Given the description of an element on the screen output the (x, y) to click on. 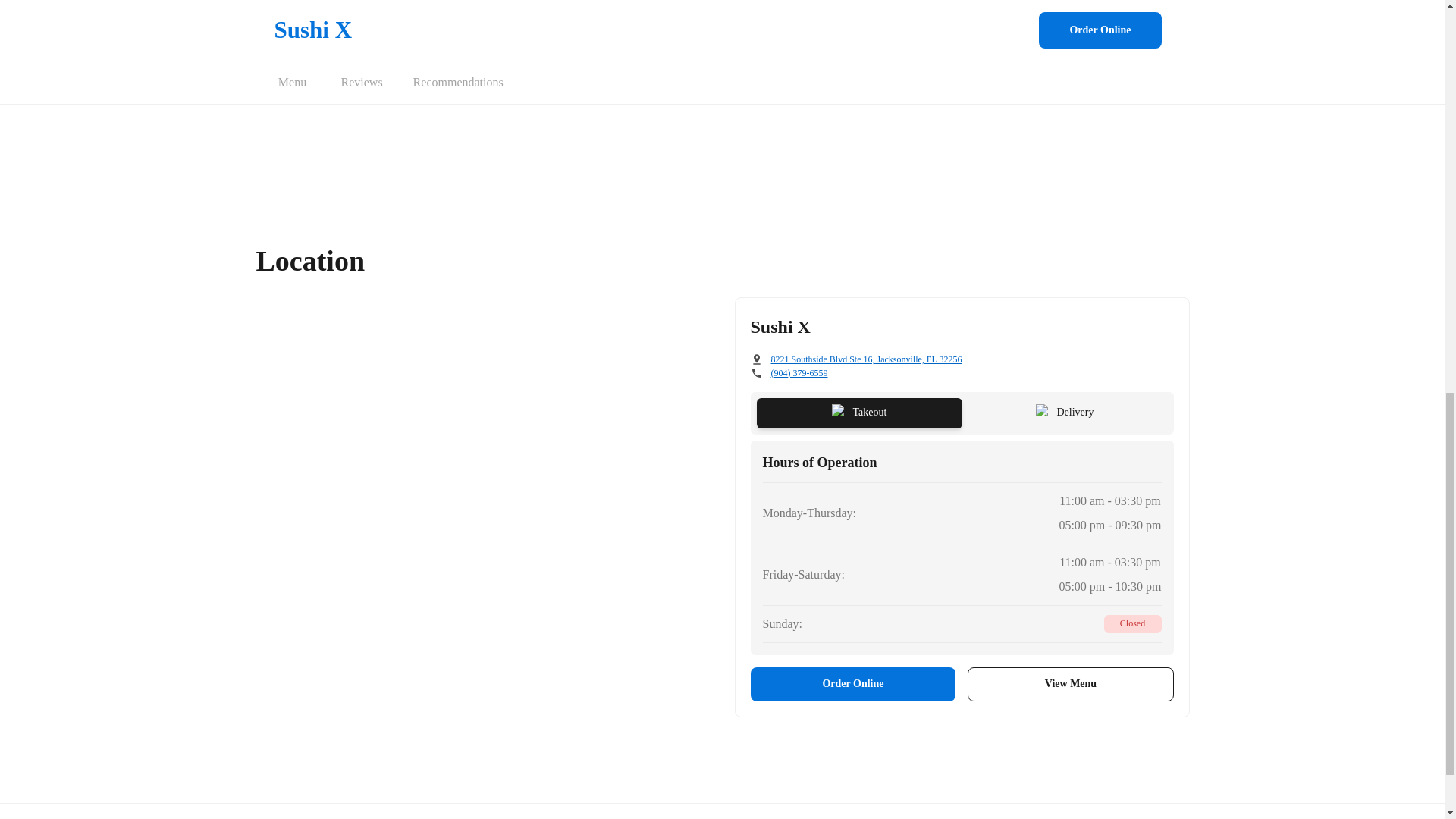
Order Online (853, 684)
8221 Southside Blvd Ste 16, Jacksonville, FL 32256 (865, 359)
View Menu (1070, 684)
